Given the description of an element on the screen output the (x, y) to click on. 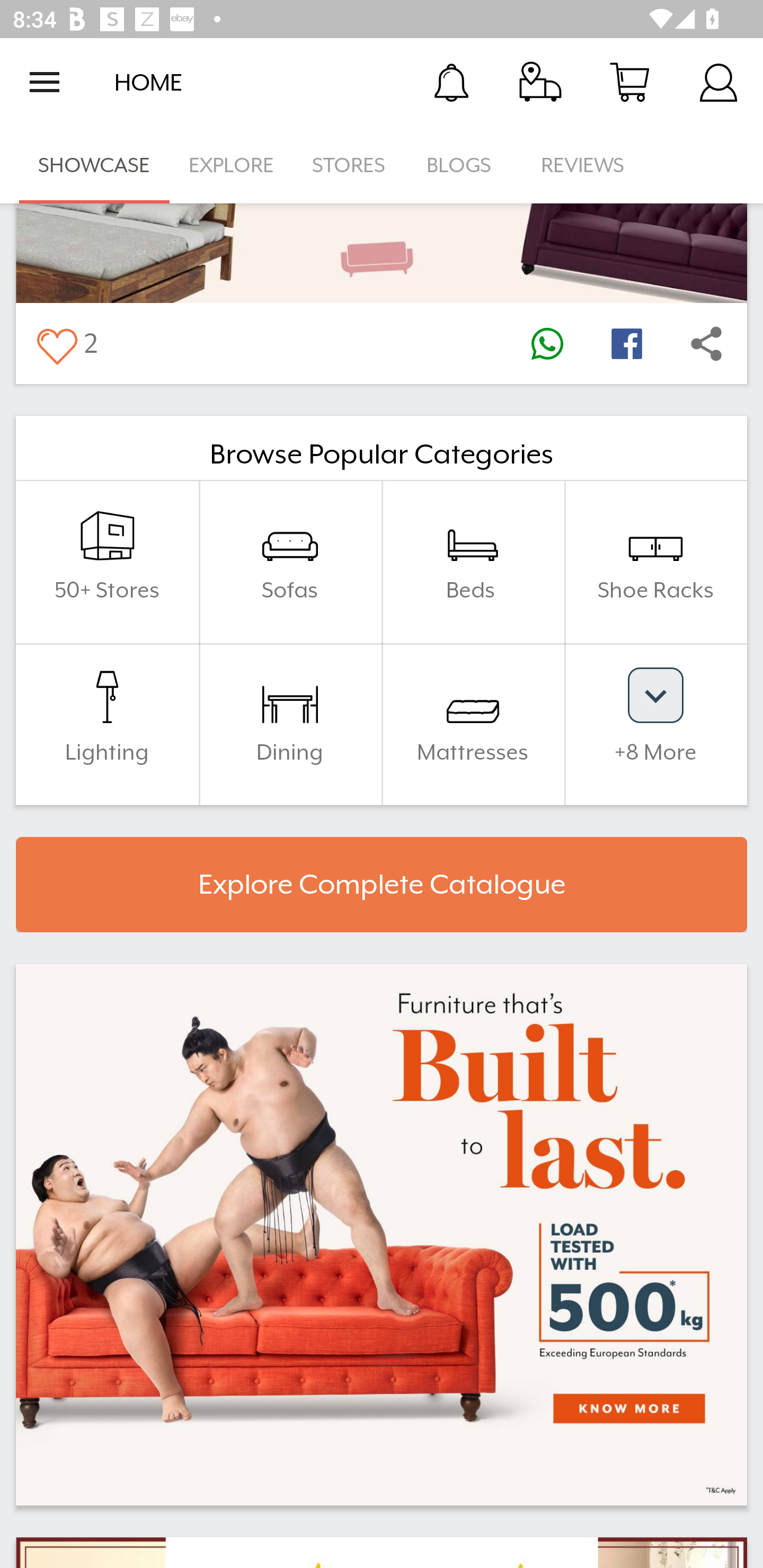
Open navigation drawer (44, 82)
Notification (450, 81)
Track Order (540, 81)
Cart (629, 81)
Account Details (718, 81)
SHOWCASE (94, 165)
EXPLORE (230, 165)
STORES (349, 165)
BLOGS (464, 165)
REVIEWS (582, 165)
 (55, 343)
 (547, 343)
 (626, 343)
 (706, 343)
50+ Stores (106, 561)
Sofas (289, 561)
Beds  (473, 561)
Shoe Racks (655, 561)
Lighting (106, 723)
Dining (289, 723)
Mattresses (473, 723)
 +8 More (655, 723)
Explore Complete Catalogue (381, 884)
